Given the description of an element on the screen output the (x, y) to click on. 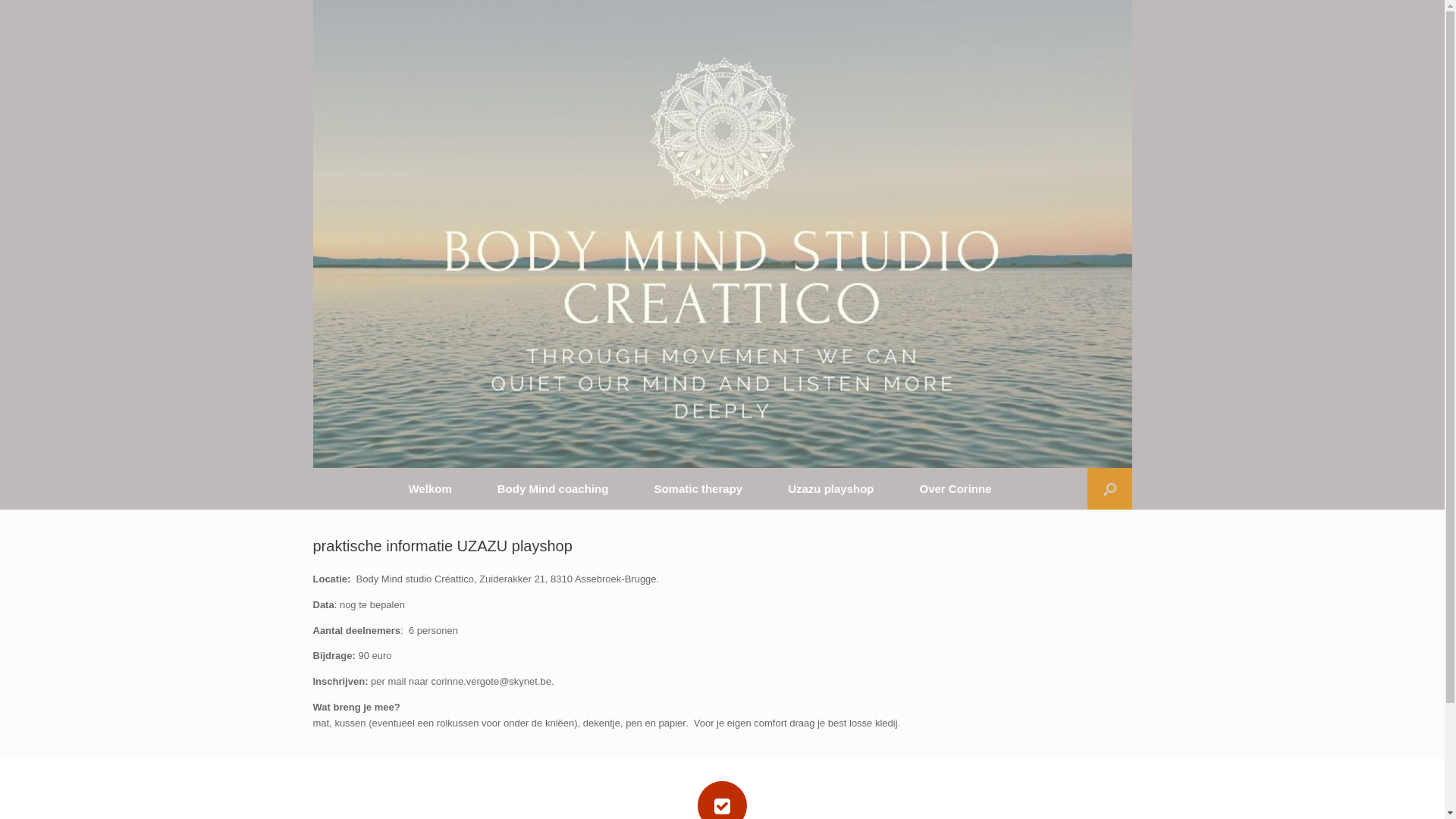
Body Mind coaching Element type: text (552, 488)
Somatic therapy Element type: text (697, 488)
Over Corinne Element type: text (954, 488)
Welkom Element type: text (429, 488)
Uzazu playshop Element type: text (830, 488)
Corinne Vergote Element type: hover (721, 233)
